Given the description of an element on the screen output the (x, y) to click on. 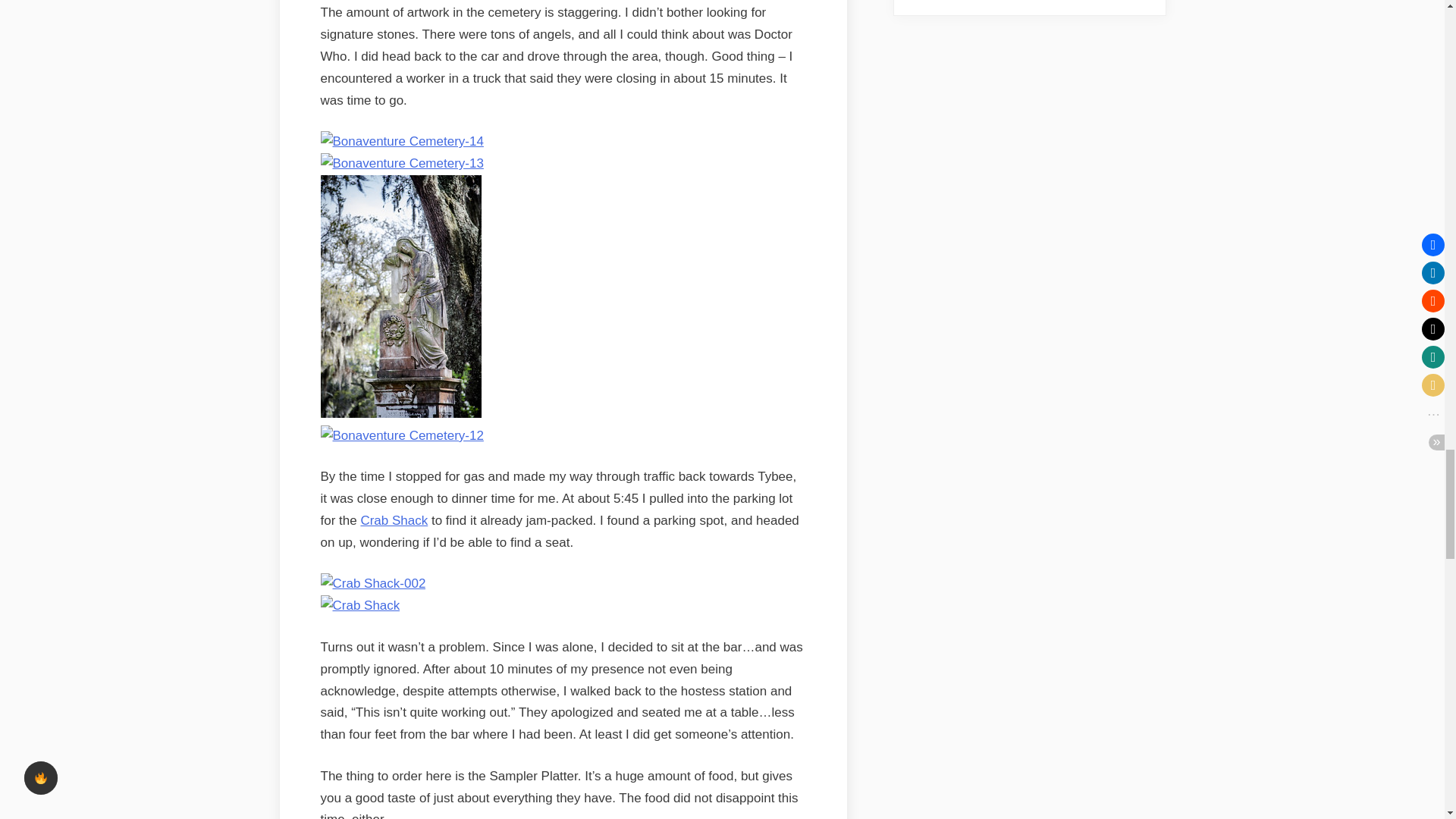
Crab Shack (393, 520)
